Given the description of an element on the screen output the (x, y) to click on. 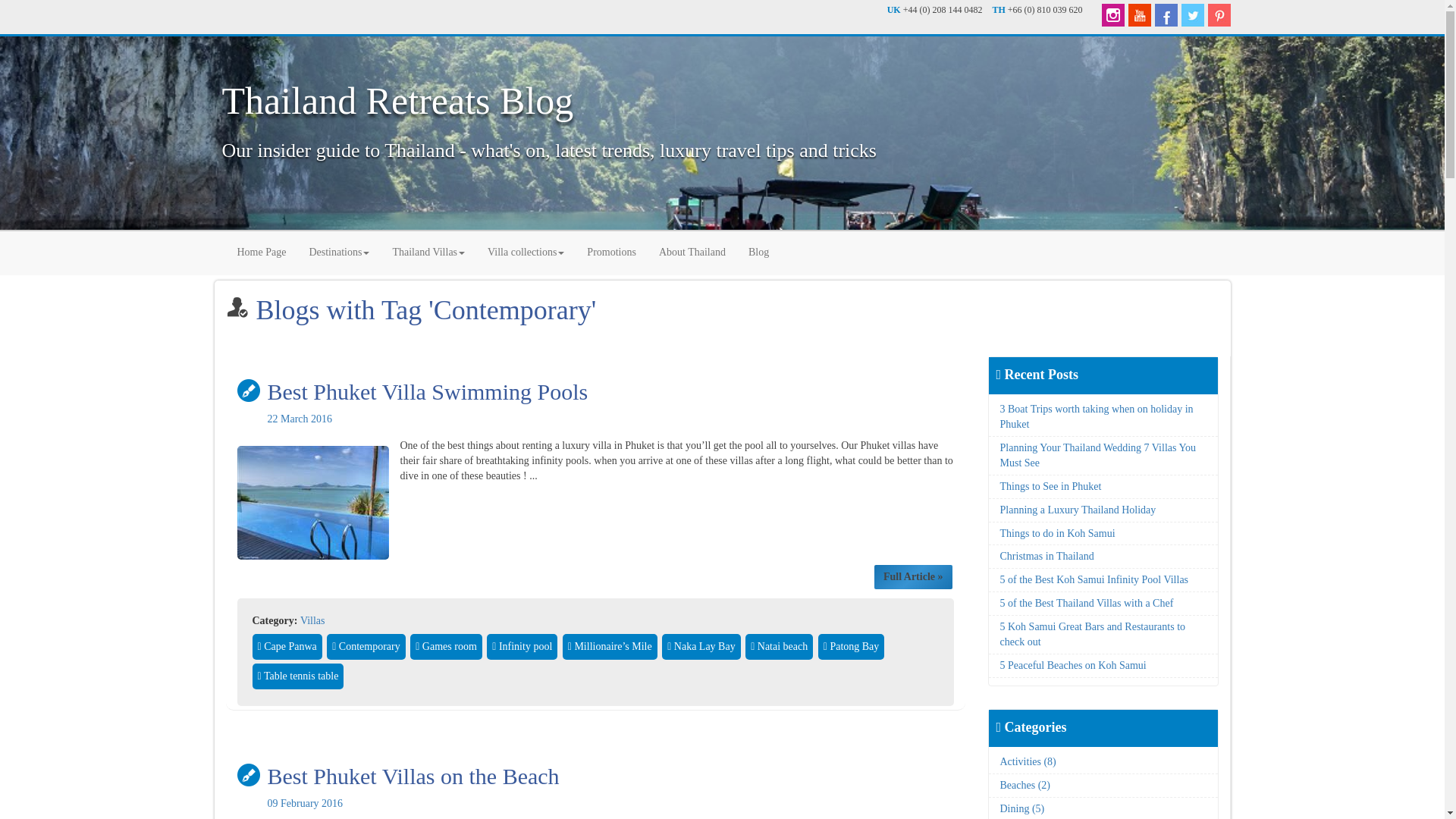
Thailand Villas (428, 250)
Promotions (611, 250)
About Thailand (691, 250)
Destinations (338, 250)
Blog (758, 250)
Villa collections (525, 250)
Home Page (261, 250)
